Given the description of an element on the screen output the (x, y) to click on. 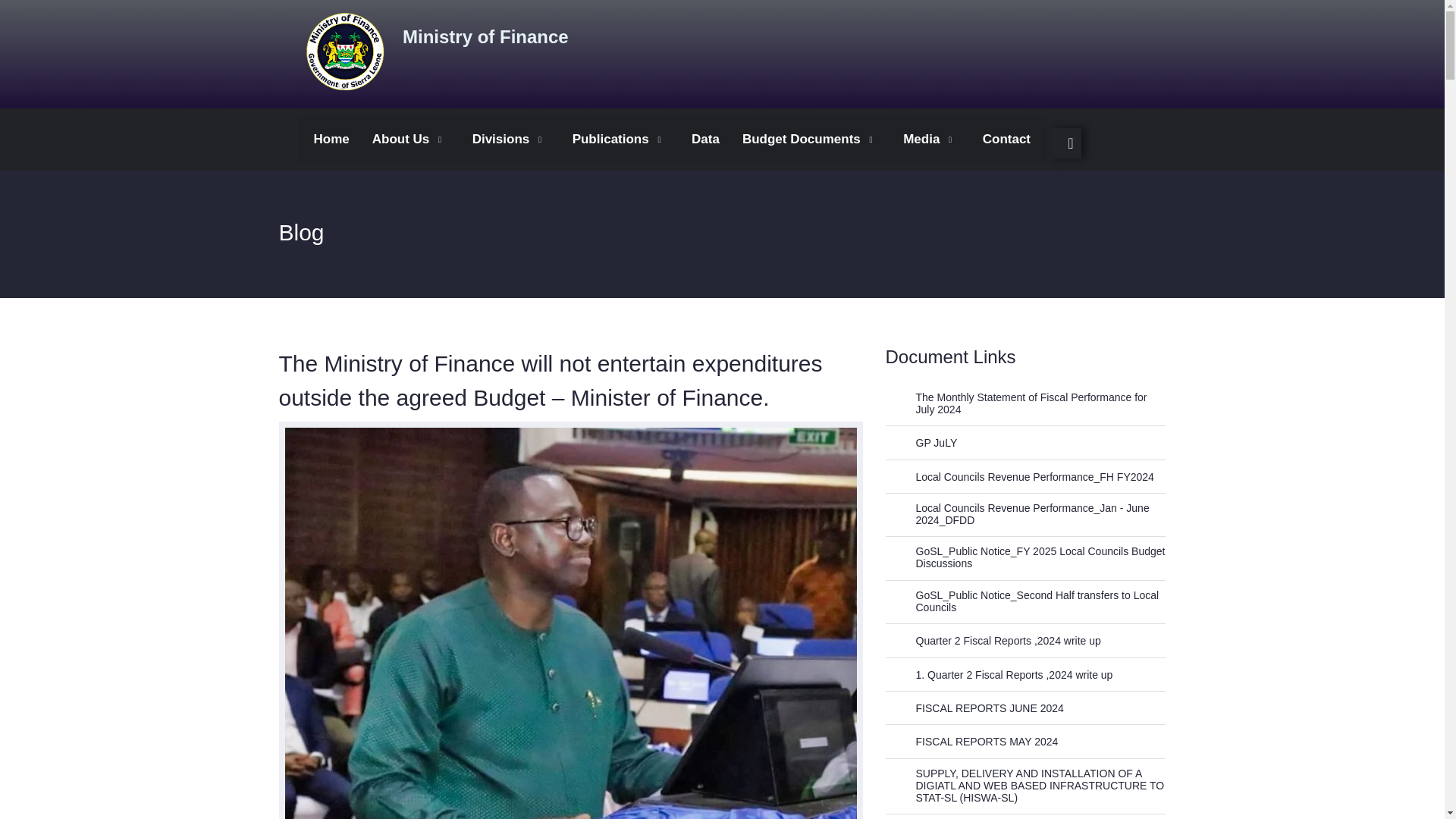
Quarter 2 Fiscal Reports ,2024 write up (1000, 640)
The Monthly Statement of Fiscal Performance for July 2024 (1033, 403)
Divisions (510, 139)
Publications (619, 139)
About Us (411, 139)
Data (704, 139)
GP JuLY (929, 442)
FISCAL REPORTS MAY 2024 (979, 741)
Home (330, 139)
1. Quarter 2 Fiscal Reports ,2024 write up (1007, 674)
